Given the description of an element on the screen output the (x, y) to click on. 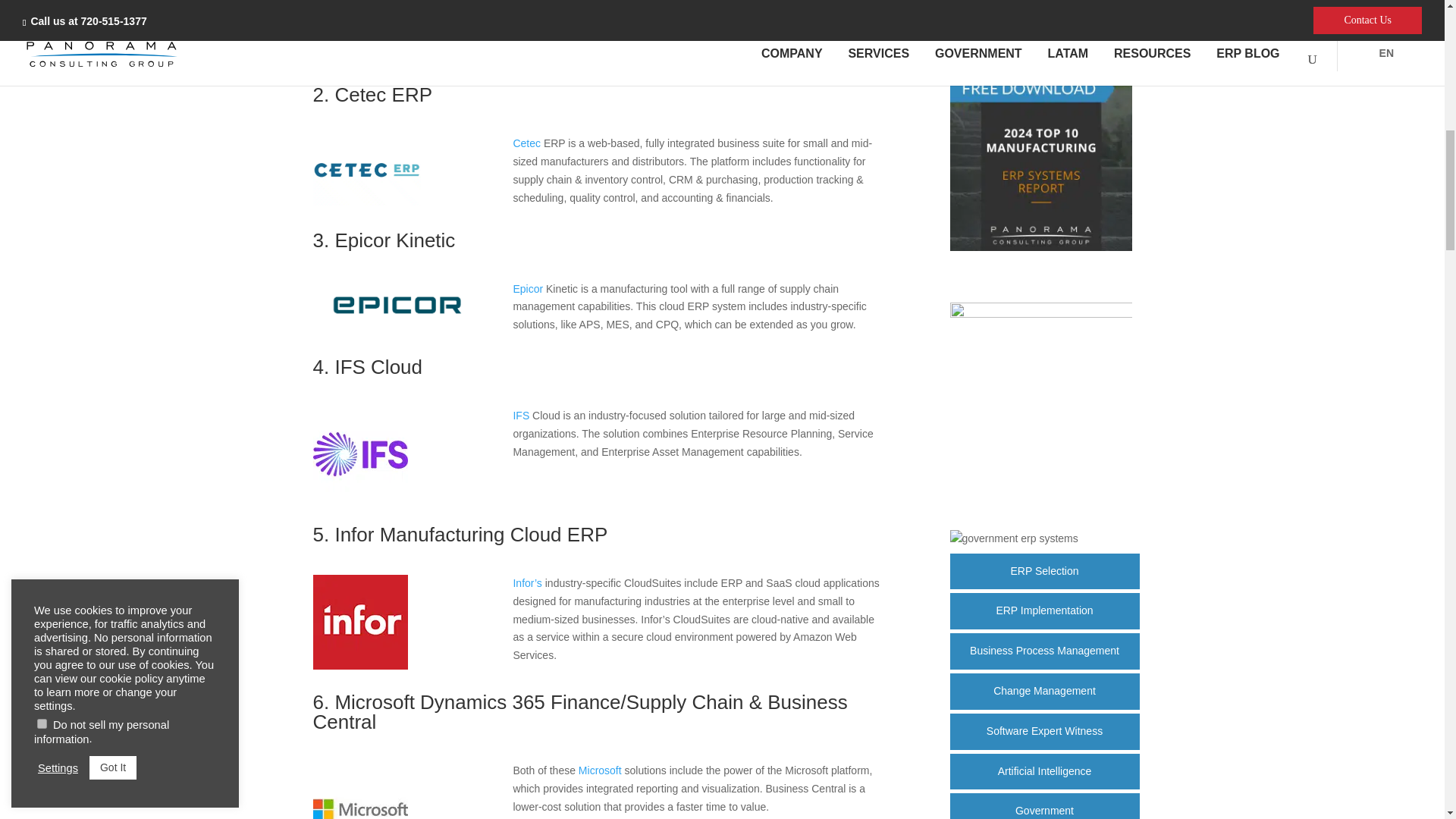
Cetec-ERP (366, 201)
logo-infor (360, 665)
Acumatica (397, 50)
epicor logo (397, 326)
ifs logo (360, 498)
